Given the description of an element on the screen output the (x, y) to click on. 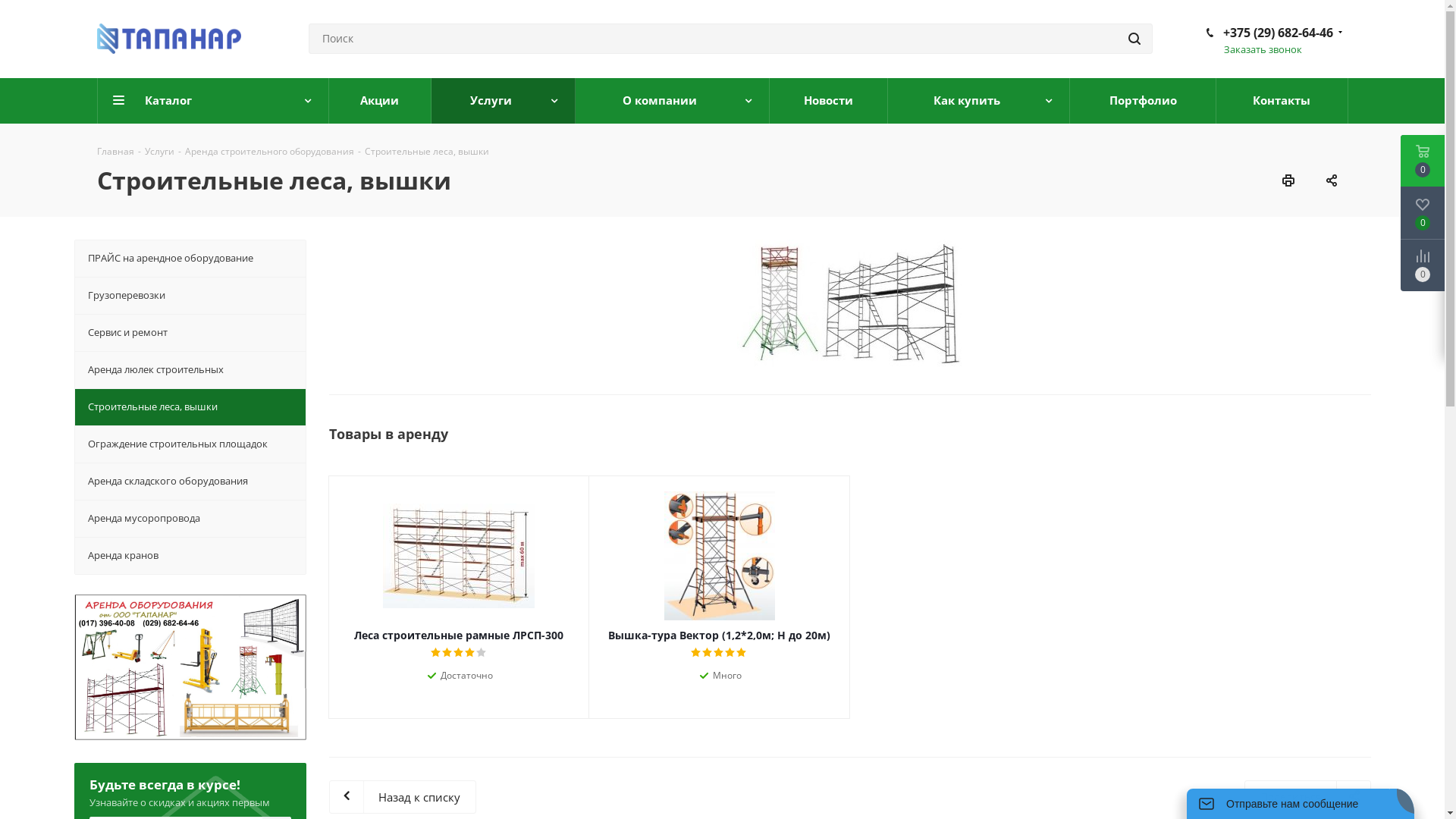
2 Element type: hover (707, 652)
2 Element type: hover (447, 652)
5 Element type: hover (481, 652)
3 Element type: hover (718, 652)
+375 (29) 682-64-46 Element type: text (1277, 32)
5 Element type: hover (741, 652)
4 Element type: hover (470, 652)
4 Element type: hover (730, 652)
3 Element type: hover (458, 652)
1 Element type: hover (696, 652)
1 Element type: hover (436, 652)
